Given the description of an element on the screen output the (x, y) to click on. 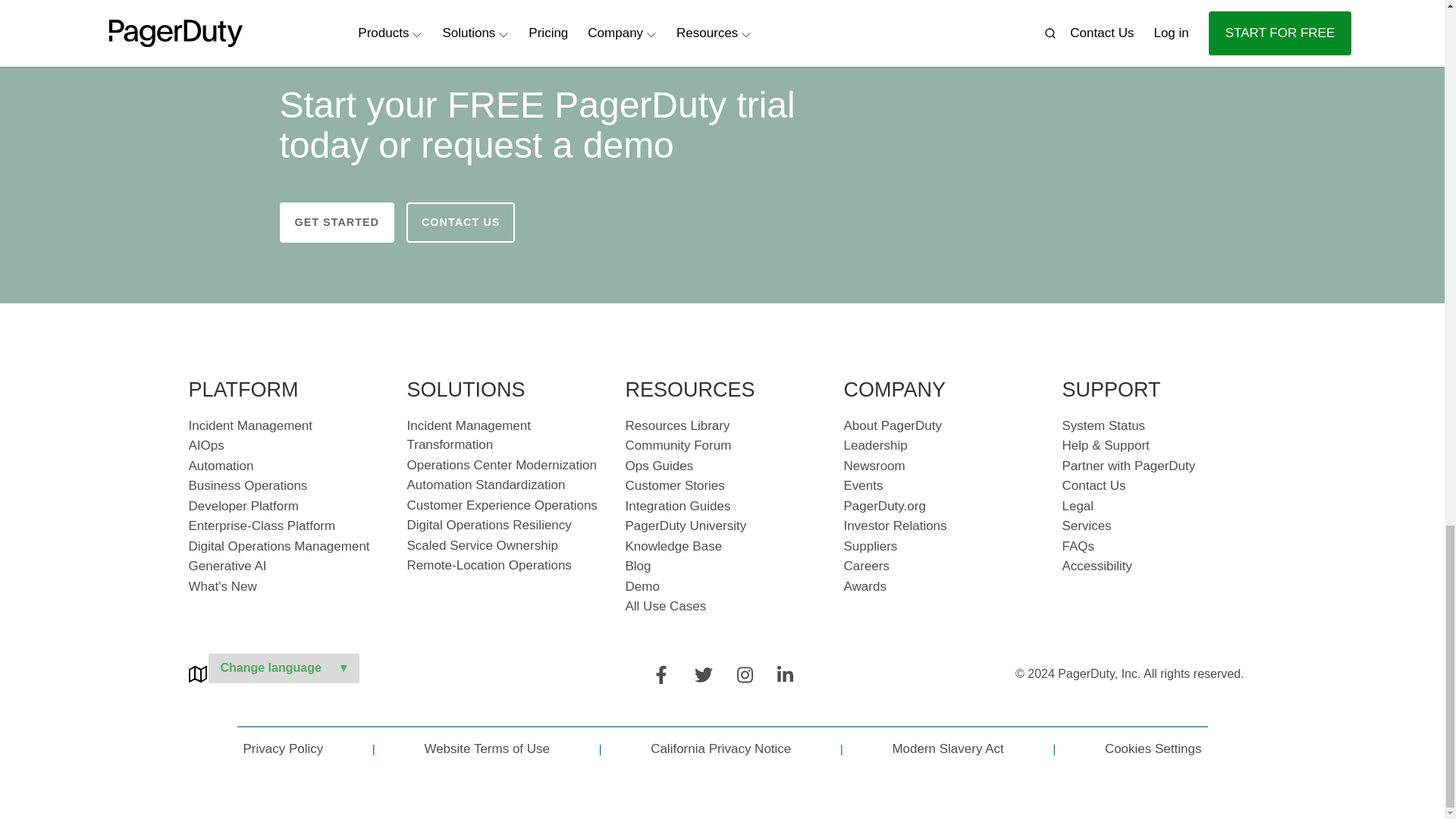
Language Selector (283, 668)
